Given the description of an element on the screen output the (x, y) to click on. 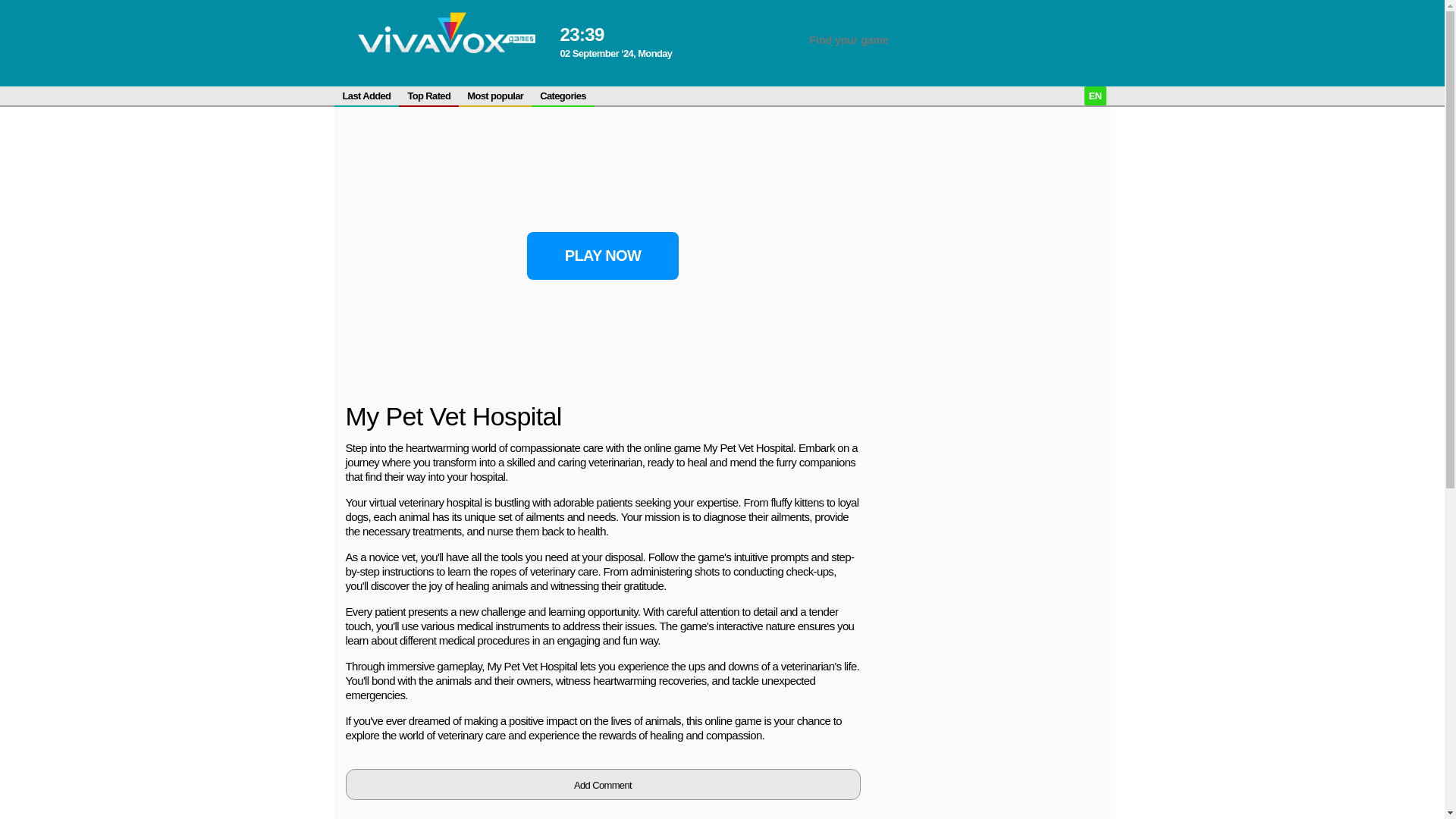
Categories (562, 96)
Top Rated (428, 96)
PLAY NOW (602, 255)
Last Added (365, 96)
EN (1095, 95)
Most popular (494, 96)
